Given the description of an element on the screen output the (x, y) to click on. 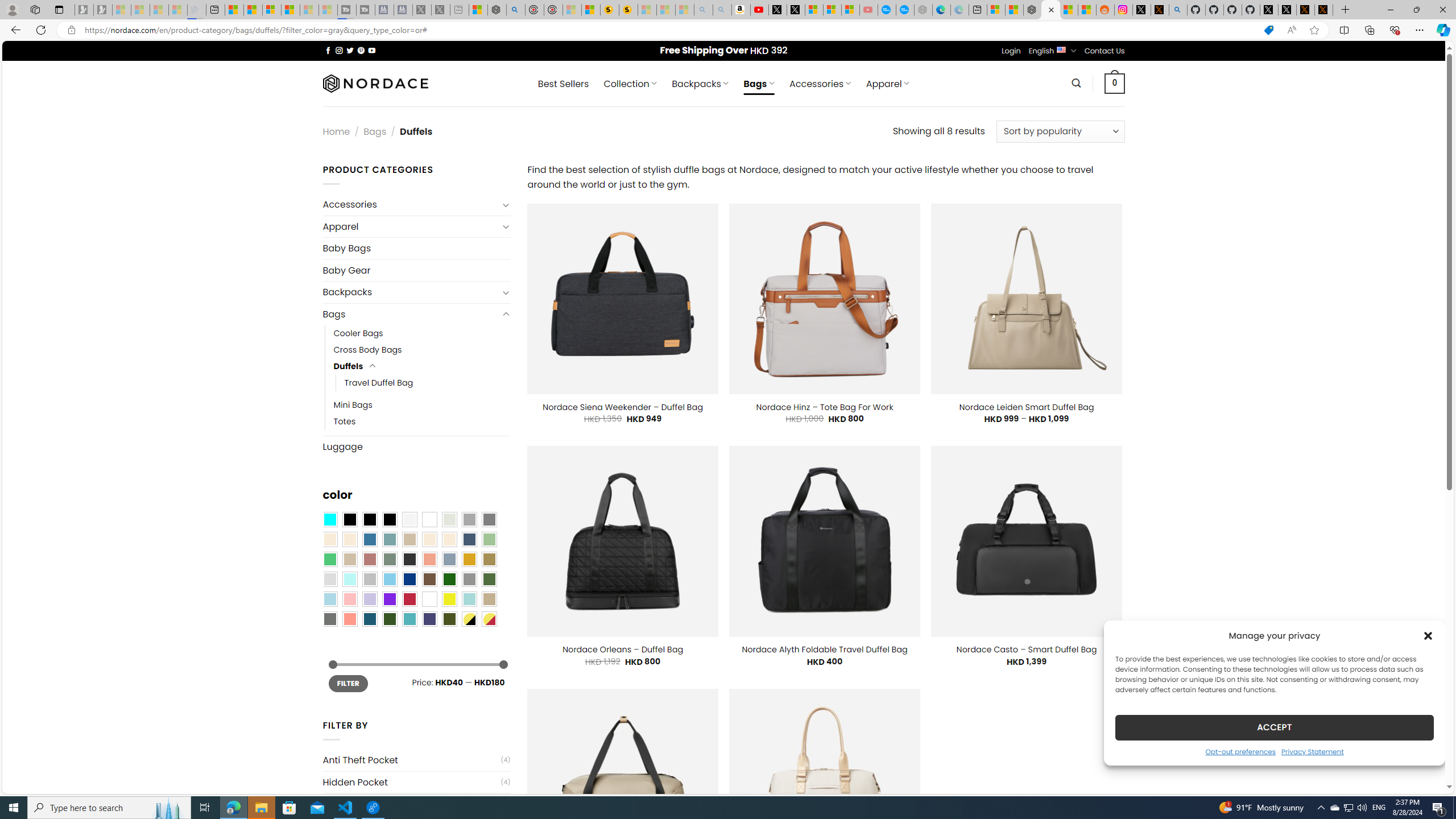
White (429, 599)
Laptop Sleeve(3) (416, 803)
Mini Bags (352, 404)
Pink (349, 599)
Gloom - YouTube - Sleeping (868, 9)
Beige (329, 539)
Travel Duffel Bag (378, 382)
Duffels (348, 366)
Totes (422, 420)
